Given the description of an element on the screen output the (x, y) to click on. 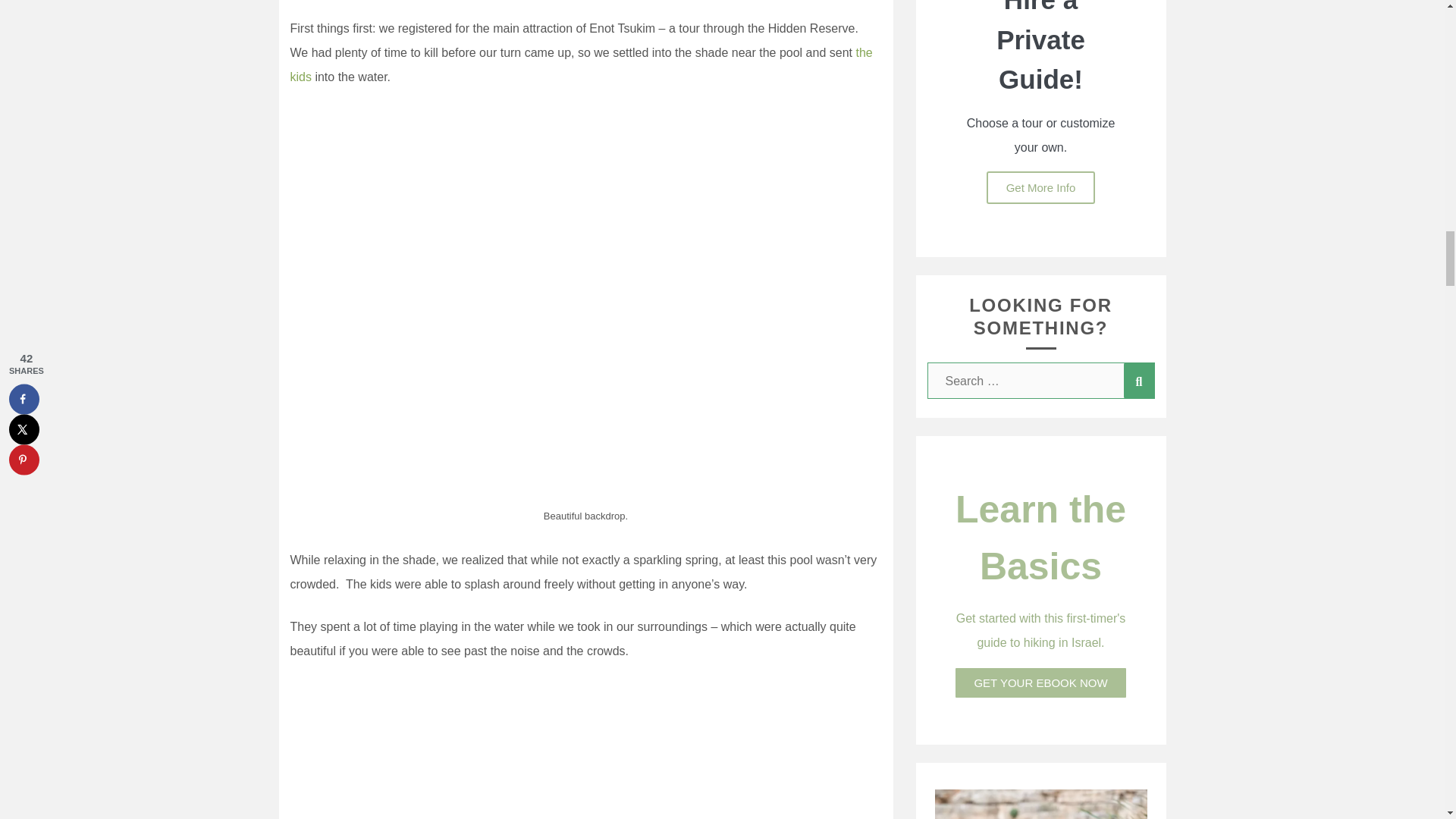
the kids (580, 64)
